Given the description of an element on the screen output the (x, y) to click on. 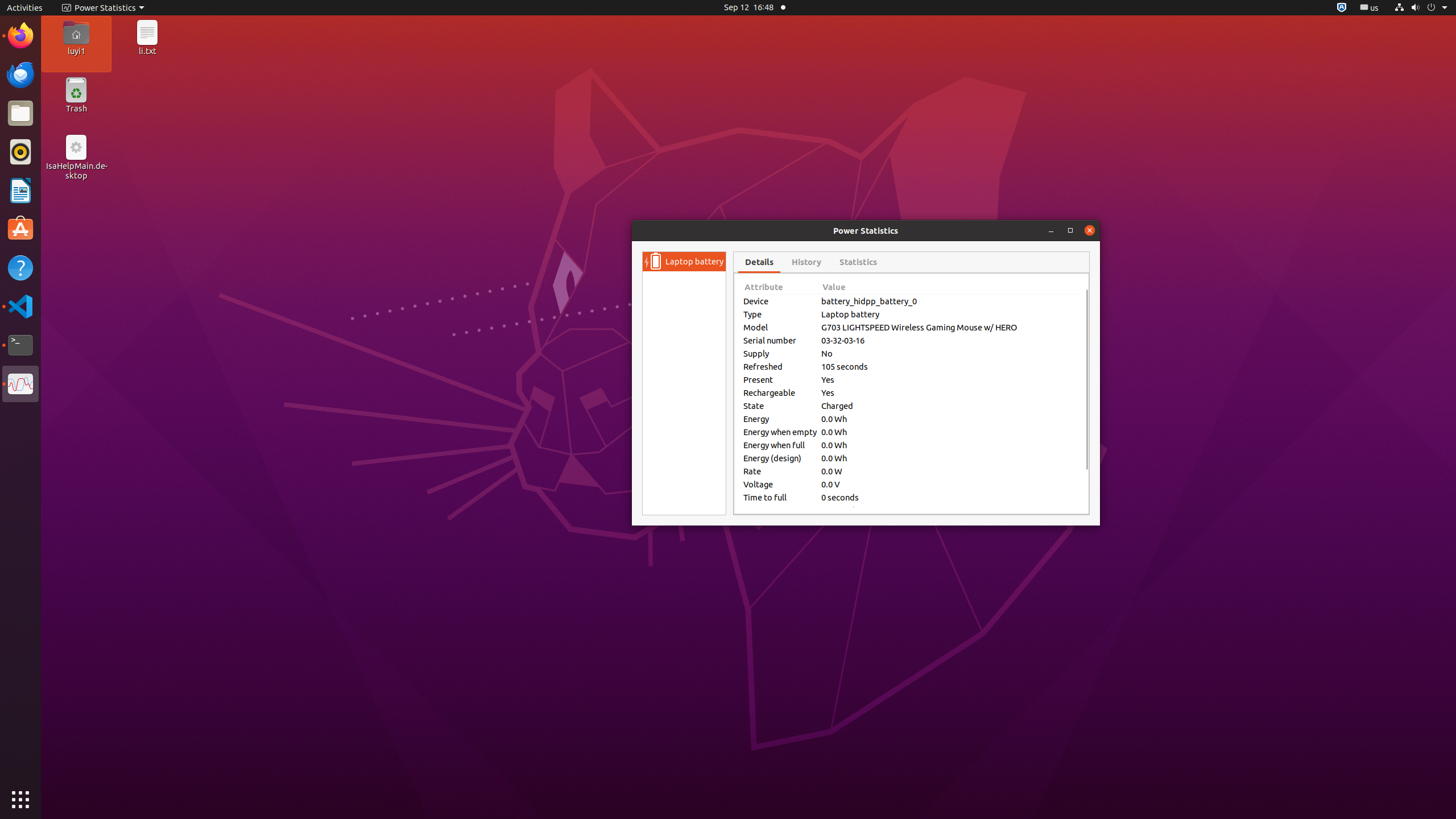
Present Element type: table-cell (779, 379)
Terminal Element type: push-button (20, 344)
G703 LIGHTSPEED Wireless Gaming Mouse w/ HERO Element type: table-cell (950, 327)
Statistics Element type: page-tab (858, 261)
0.0 V Element type: table-cell (950, 484)
